Given the description of an element on the screen output the (x, y) to click on. 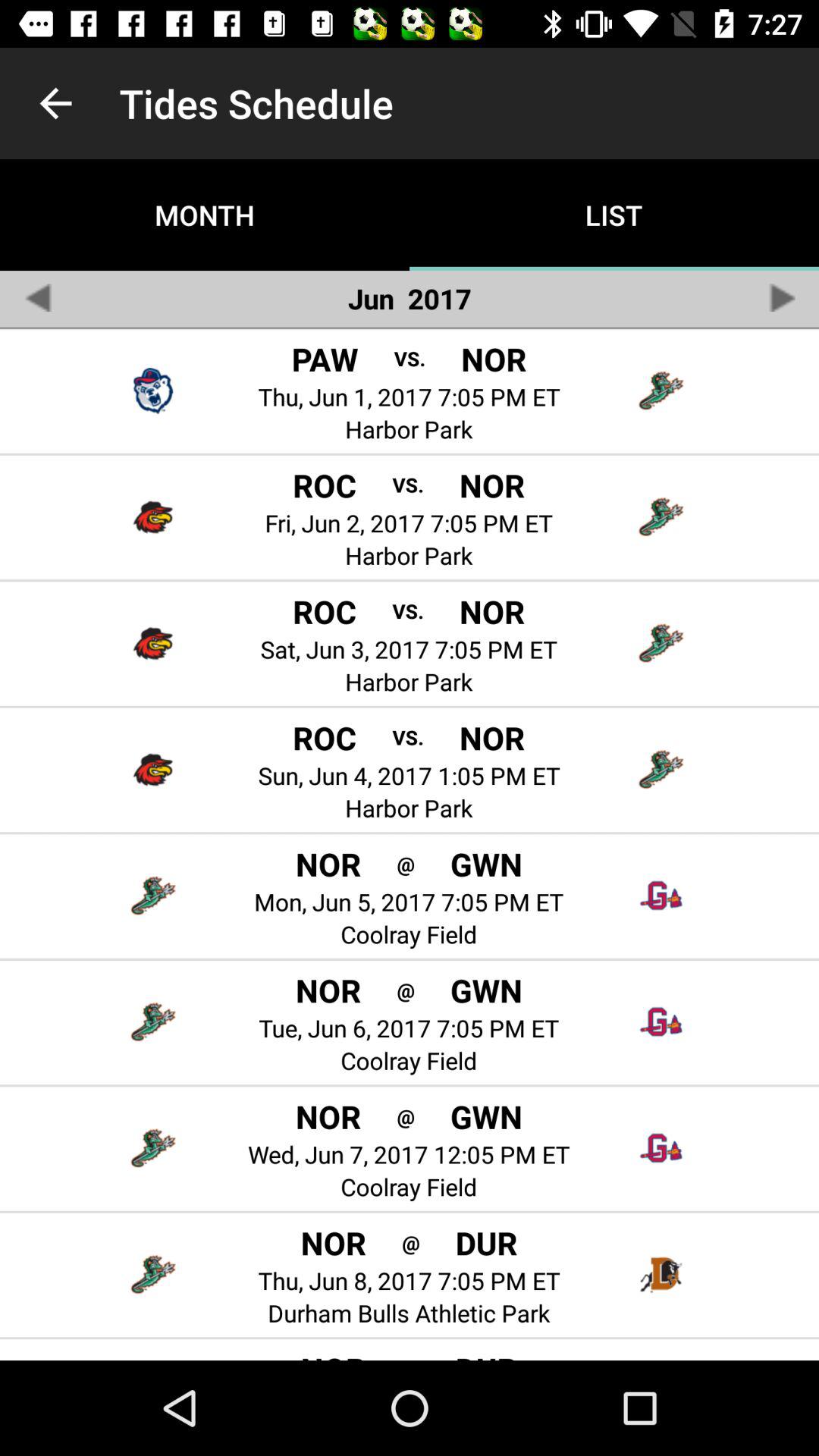
press @ icon (410, 1242)
